Given the description of an element on the screen output the (x, y) to click on. 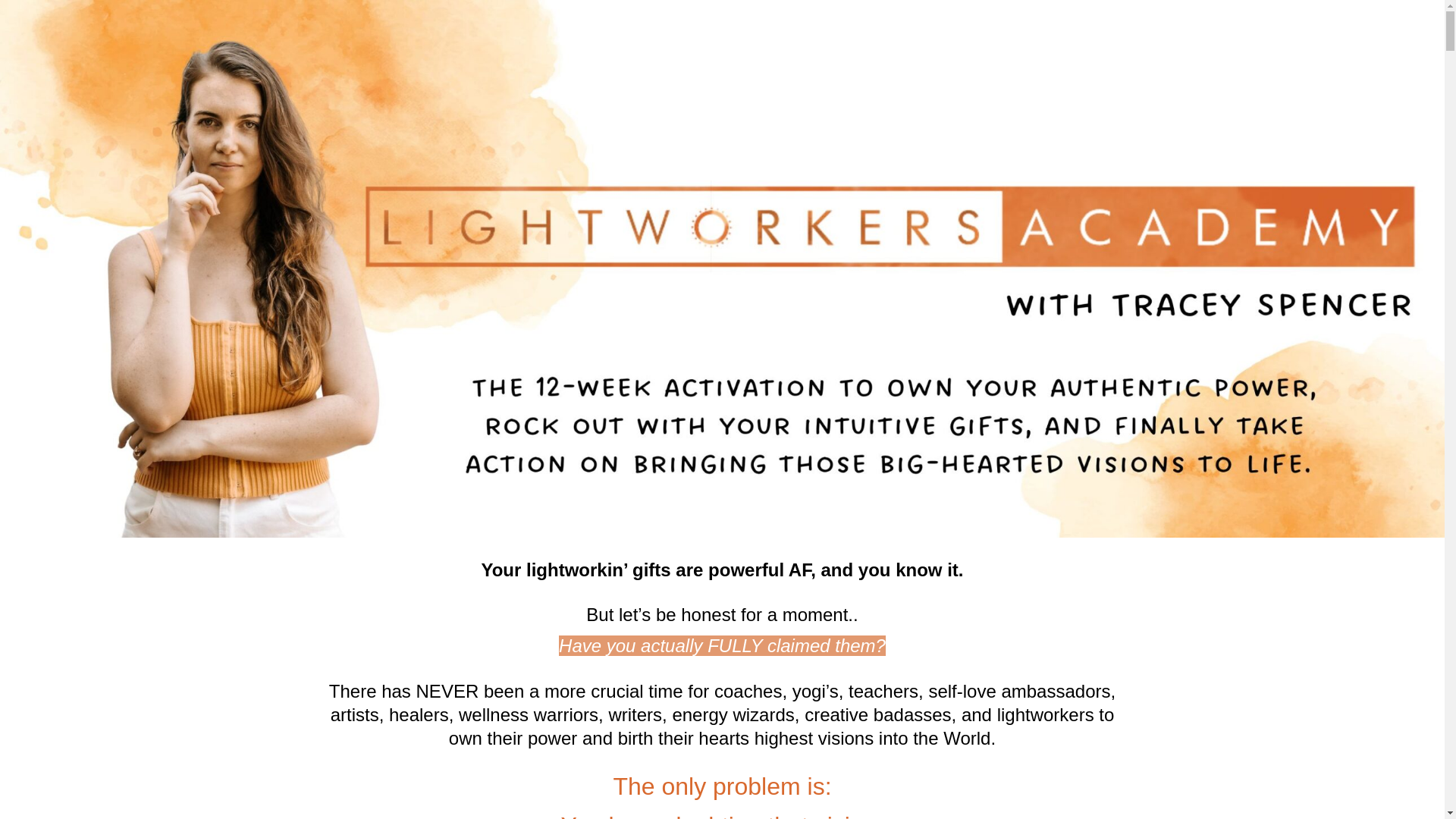
Lightworkers Academy  Element type: hover (722, 301)
